Given the description of an element on the screen output the (x, y) to click on. 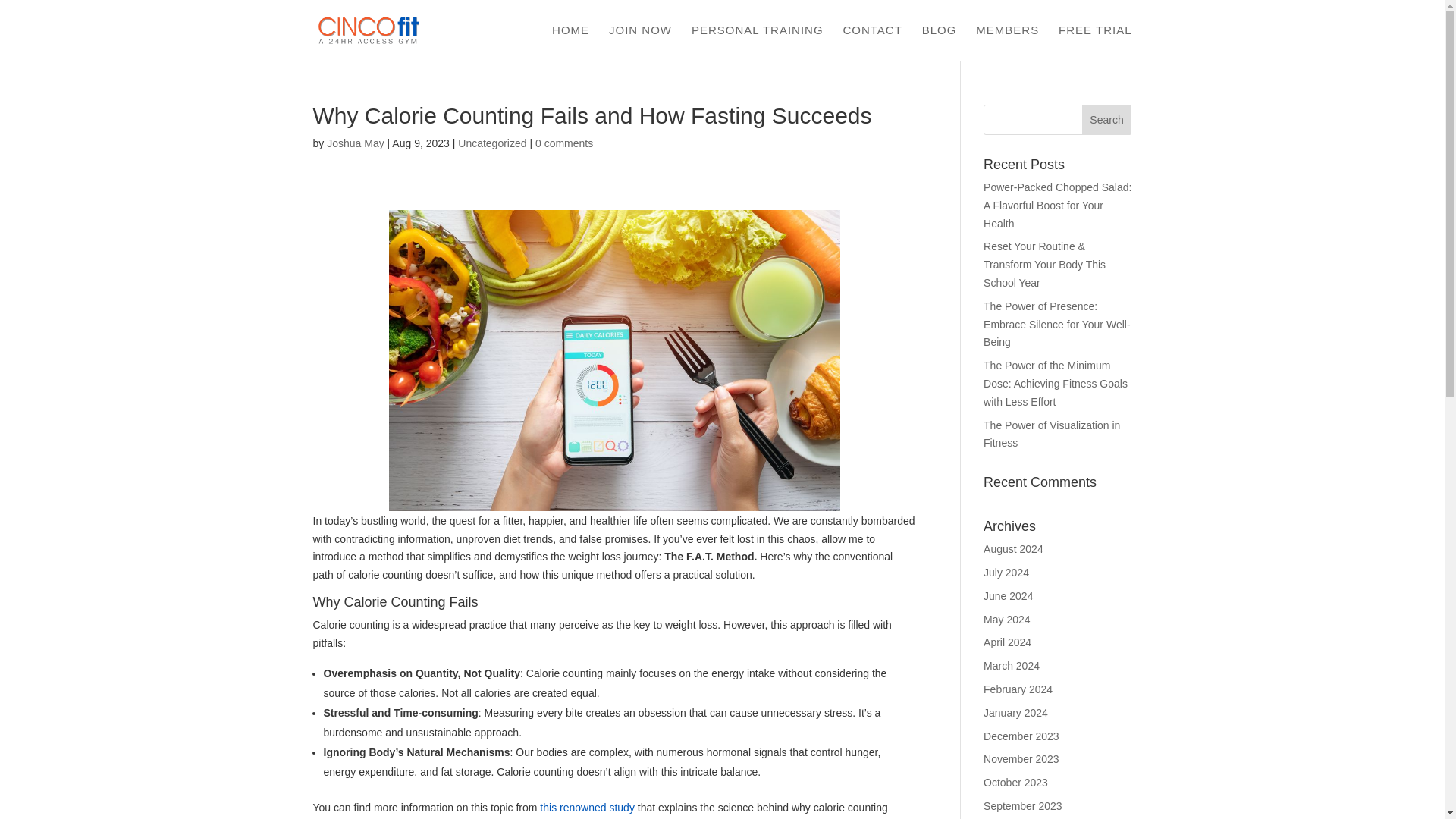
November 2023 (1021, 758)
October 2023 (1016, 782)
Posts by Joshua May (355, 143)
April 2024 (1007, 642)
CONTACT (872, 42)
HOME (570, 42)
February 2024 (1018, 689)
Search (1106, 119)
June 2024 (1008, 595)
